Given the description of an element on the screen output the (x, y) to click on. 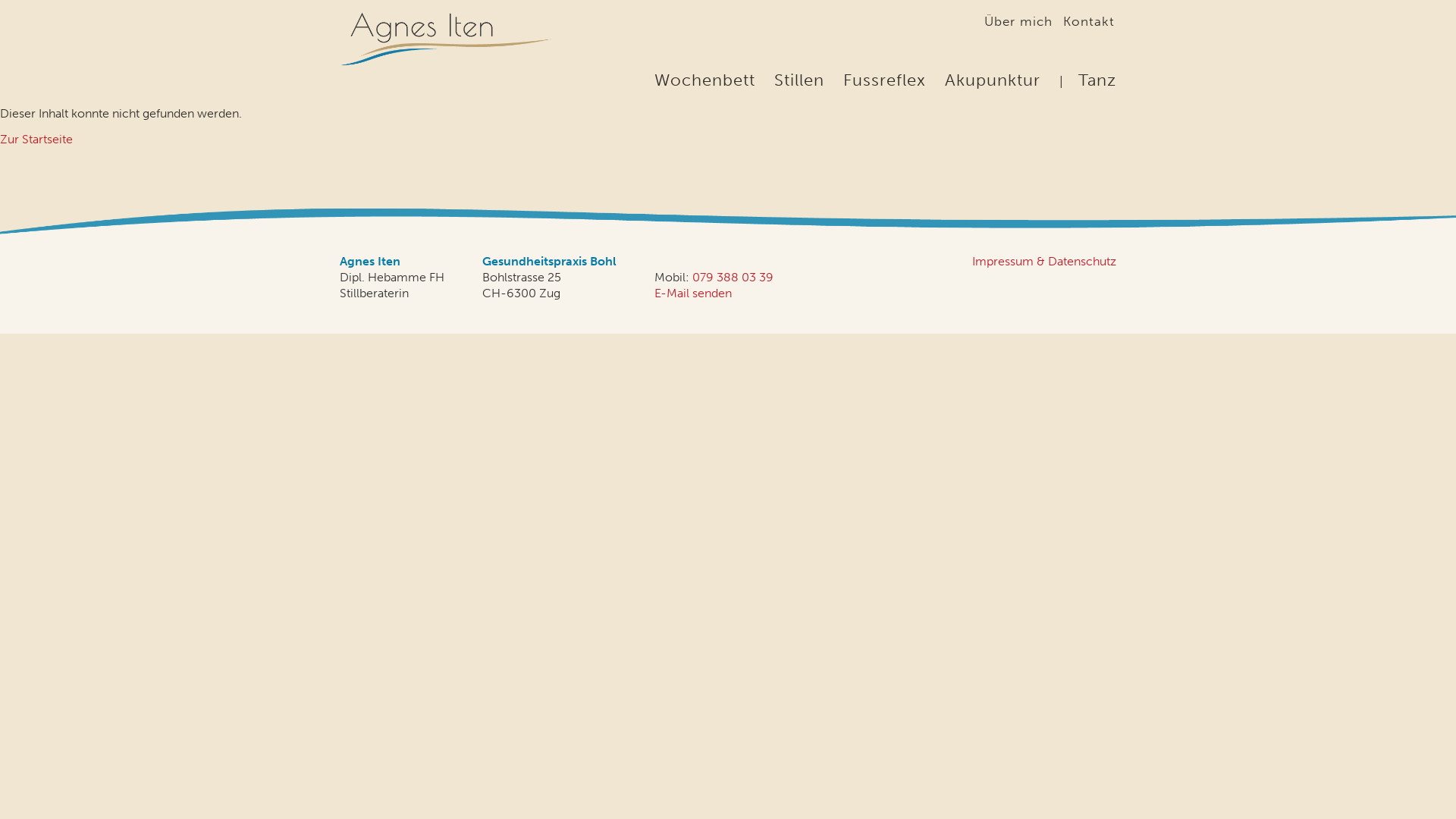
Tanz Element type: text (1097, 79)
Impressum & Datenschutz Element type: text (1044, 261)
Zur Startseite Element type: text (36, 138)
Wochenbett Element type: text (704, 79)
Fussreflex Element type: text (884, 79)
079 388 03 39 Element type: text (732, 276)
E-Mail senden Element type: text (692, 292)
Kontakt Element type: text (1088, 20)
Akupunktur Element type: text (992, 79)
Stillen Element type: text (799, 79)
